Given the description of an element on the screen output the (x, y) to click on. 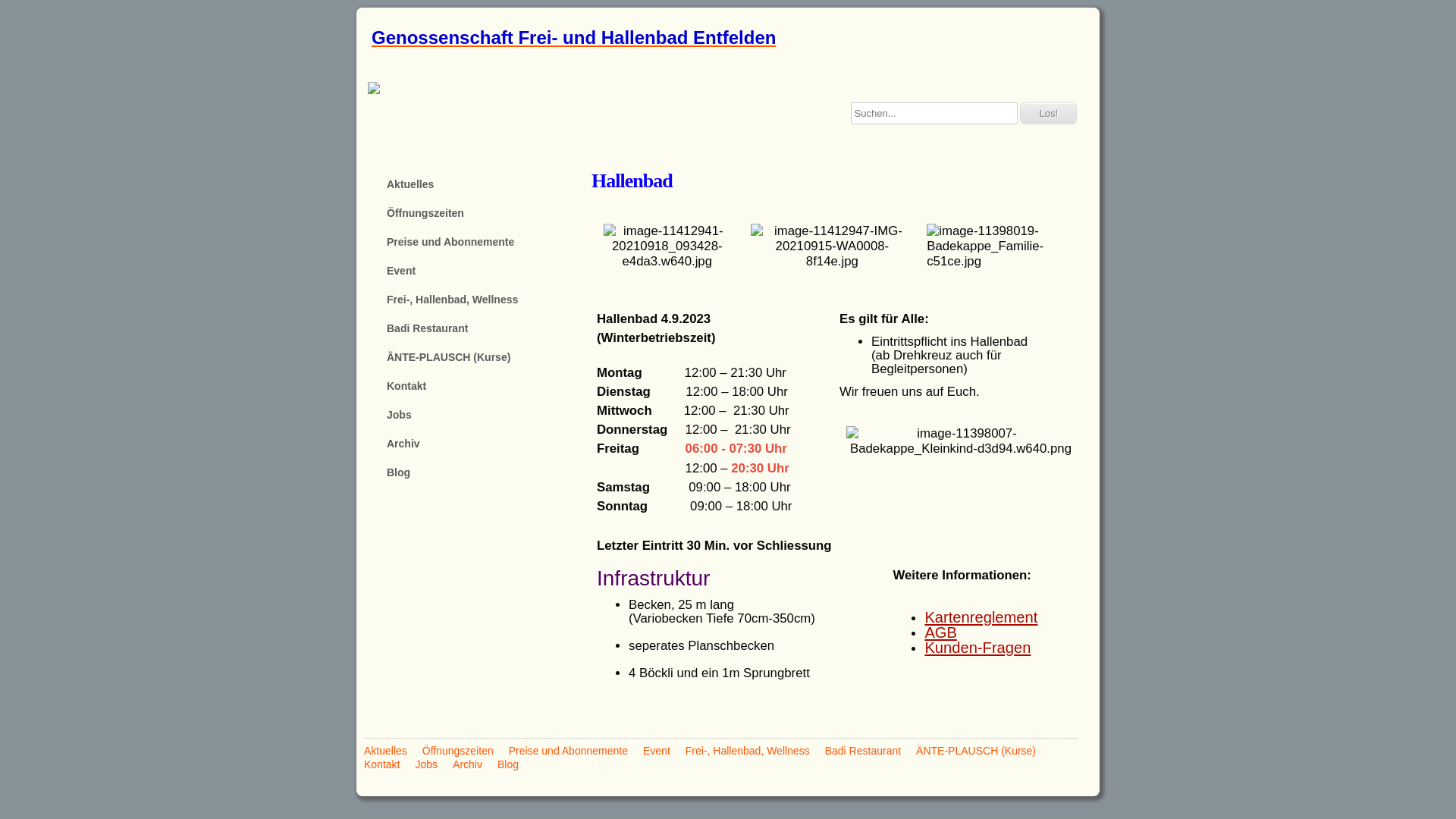
Kunden-Fragen Element type: text (977, 647)
Jobs Element type: text (425, 764)
Archiv Element type: text (467, 764)
Kontakt Element type: text (381, 764)
Blog Element type: text (477, 472)
Genossenschaft Frei- und Hallenbad Entfelden Element type: text (727, 37)
Jobs Element type: text (477, 414)
Event Element type: text (477, 270)
AGB Element type: text (940, 632)
Preise und Abonnemente Element type: text (567, 750)
Los! Element type: text (1047, 113)
Blog Element type: text (507, 764)
Badi Restaurant Element type: text (477, 328)
Frei-, Hallenbad, Wellness Element type: text (747, 750)
Aktuelles Element type: text (385, 750)
Frei-, Hallenbad, Wellness Element type: text (477, 299)
Kartenreglement Element type: text (980, 616)
Aktuelles Element type: text (477, 184)
Archiv Element type: text (477, 443)
Preise und Abonnemente Element type: text (477, 241)
Badi Restaurant Element type: text (862, 750)
Kontakt Element type: text (477, 385)
Event Element type: text (656, 750)
